Given the description of an element on the screen output the (x, y) to click on. 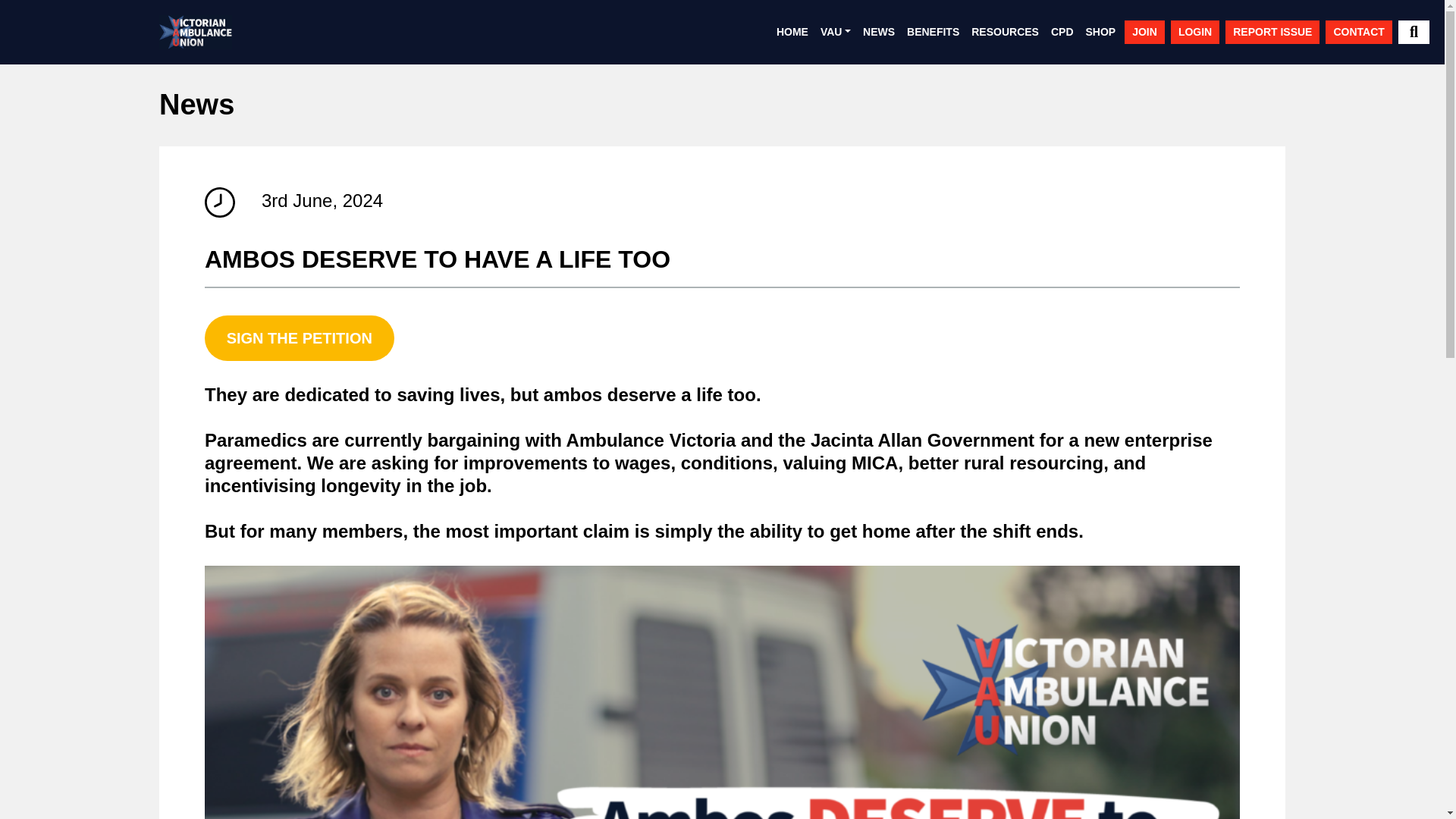
LOGIN (1195, 32)
RESOURCES (1005, 32)
CONTACT (1357, 32)
JOIN (1144, 32)
SIGN THE PETITION (299, 338)
BENEFITS (933, 32)
REPORT ISSUE (1272, 32)
